Given the description of an element on the screen output the (x, y) to click on. 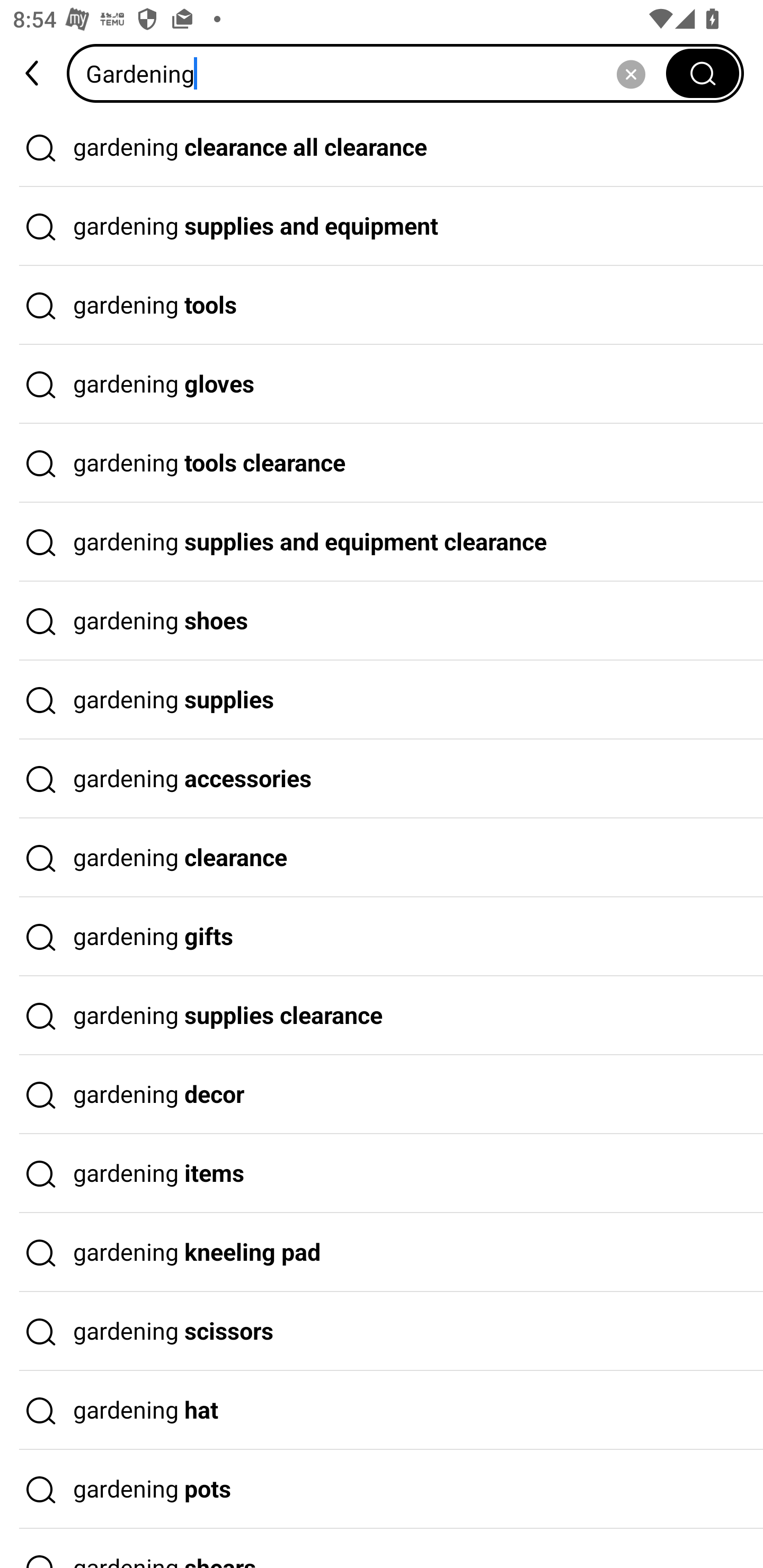
back (33, 72)
Gardening (372, 73)
Delete search history (630, 73)
gardening clearance all clearance (381, 147)
gardening supplies and equipment (381, 226)
gardening tools (381, 305)
gardening gloves (381, 383)
gardening tools clearance (381, 463)
gardening supplies and equipment clearance (381, 542)
gardening shoes (381, 620)
gardening supplies (381, 700)
gardening accessories (381, 779)
gardening clearance (381, 857)
gardening gifts (381, 936)
gardening supplies clearance (381, 1015)
gardening decor (381, 1094)
gardening items (381, 1173)
gardening kneeling pad (381, 1252)
gardening scissors (381, 1331)
gardening hat (381, 1410)
gardening pots (381, 1489)
